Given the description of an element on the screen output the (x, y) to click on. 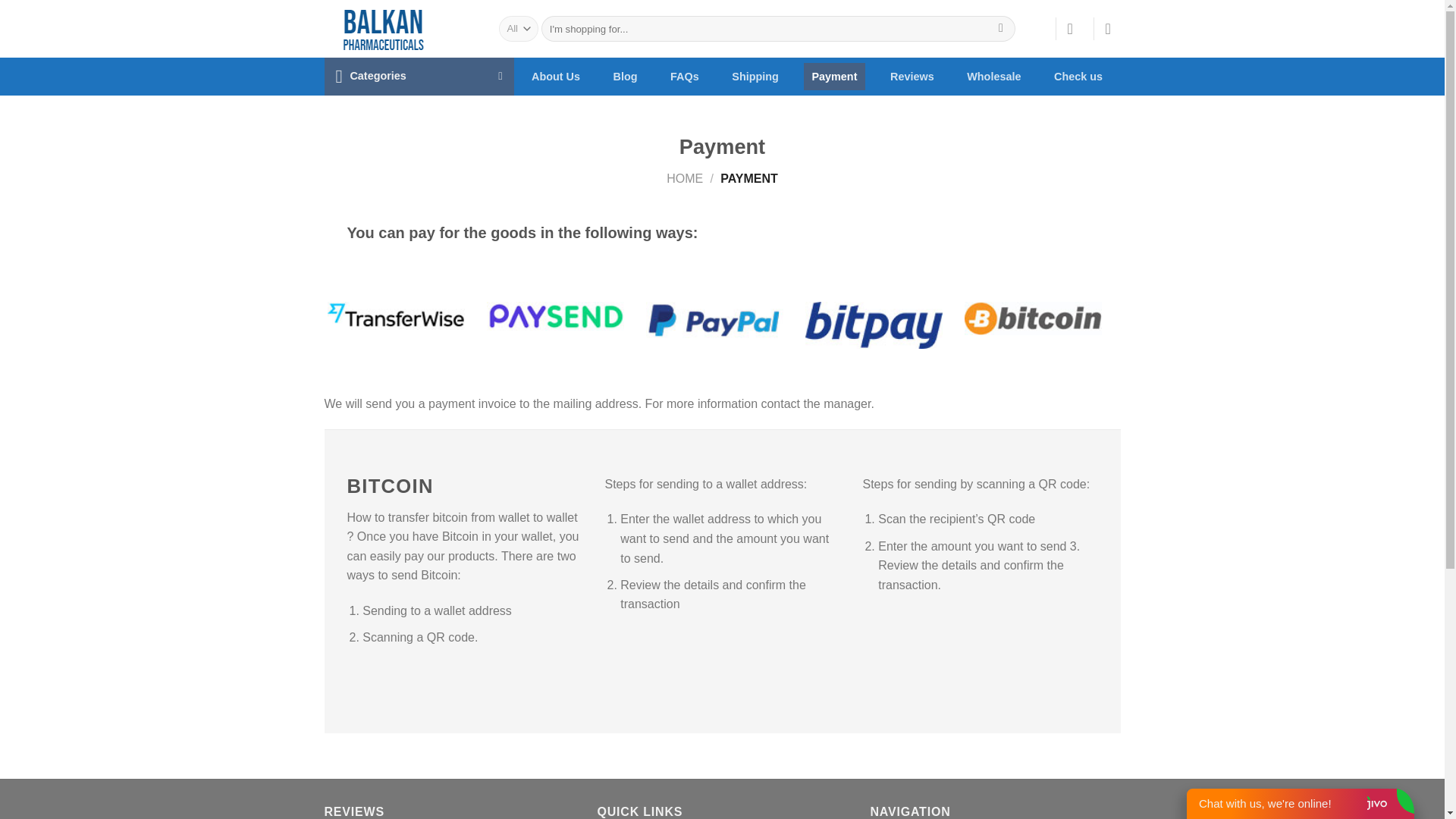
Check us (1077, 76)
Reviews (912, 76)
Payment (834, 76)
Wholesale (993, 76)
FAQs (684, 76)
BalkanPharma - Legal steroids with worldwide delivery . (400, 28)
About Us (555, 76)
Blog (625, 76)
Shipping (754, 76)
HOME (684, 178)
Search (1000, 28)
